Given the description of an element on the screen output the (x, y) to click on. 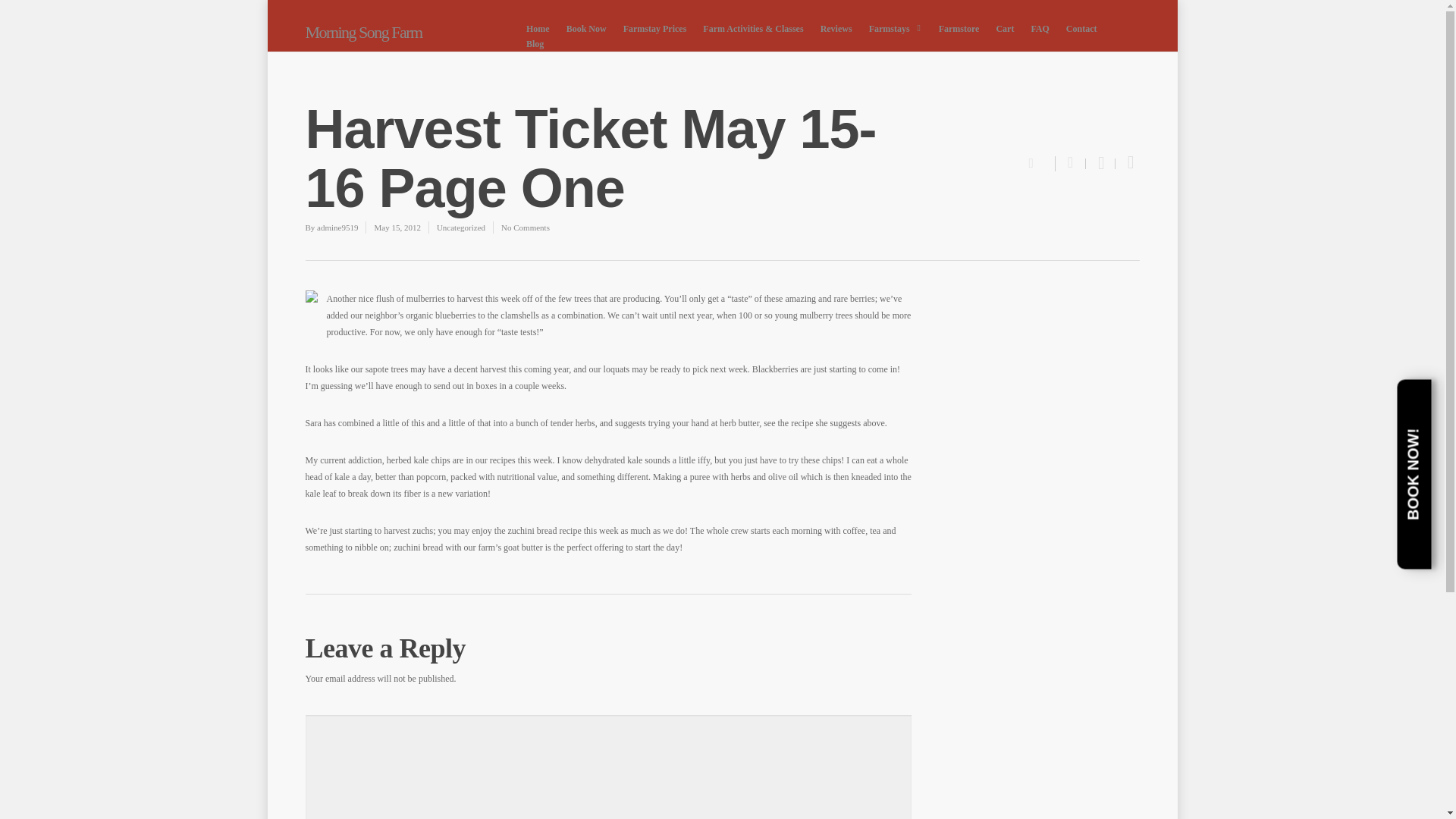
Morning Song Farm (402, 32)
Farmstay Prices (654, 28)
Share this (1070, 163)
Book Now (586, 28)
Tweet this (1100, 163)
Reviews (836, 28)
Blog (534, 43)
Contact (1081, 28)
Home (537, 28)
Farmstore (959, 28)
